Given the description of an element on the screen output the (x, y) to click on. 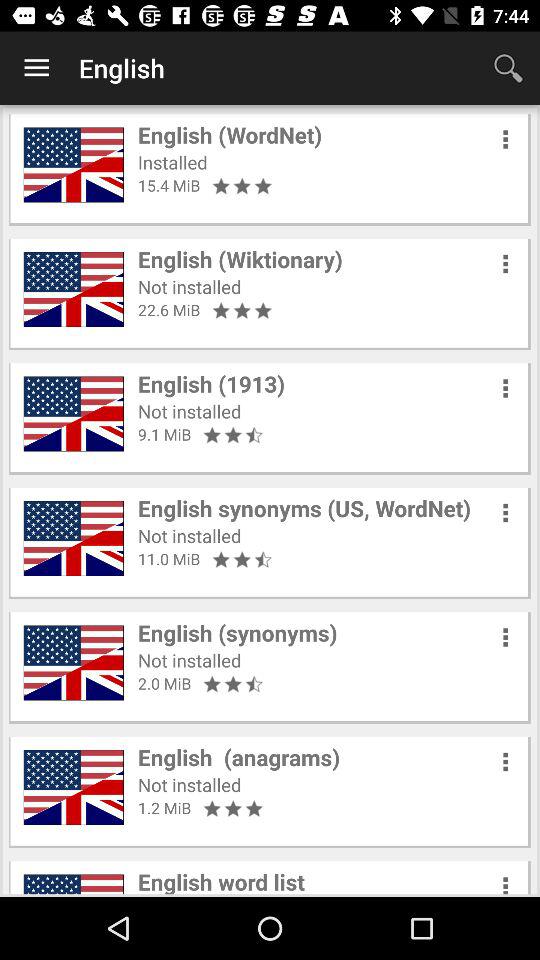
select the english word list item (221, 880)
